Given the description of an element on the screen output the (x, y) to click on. 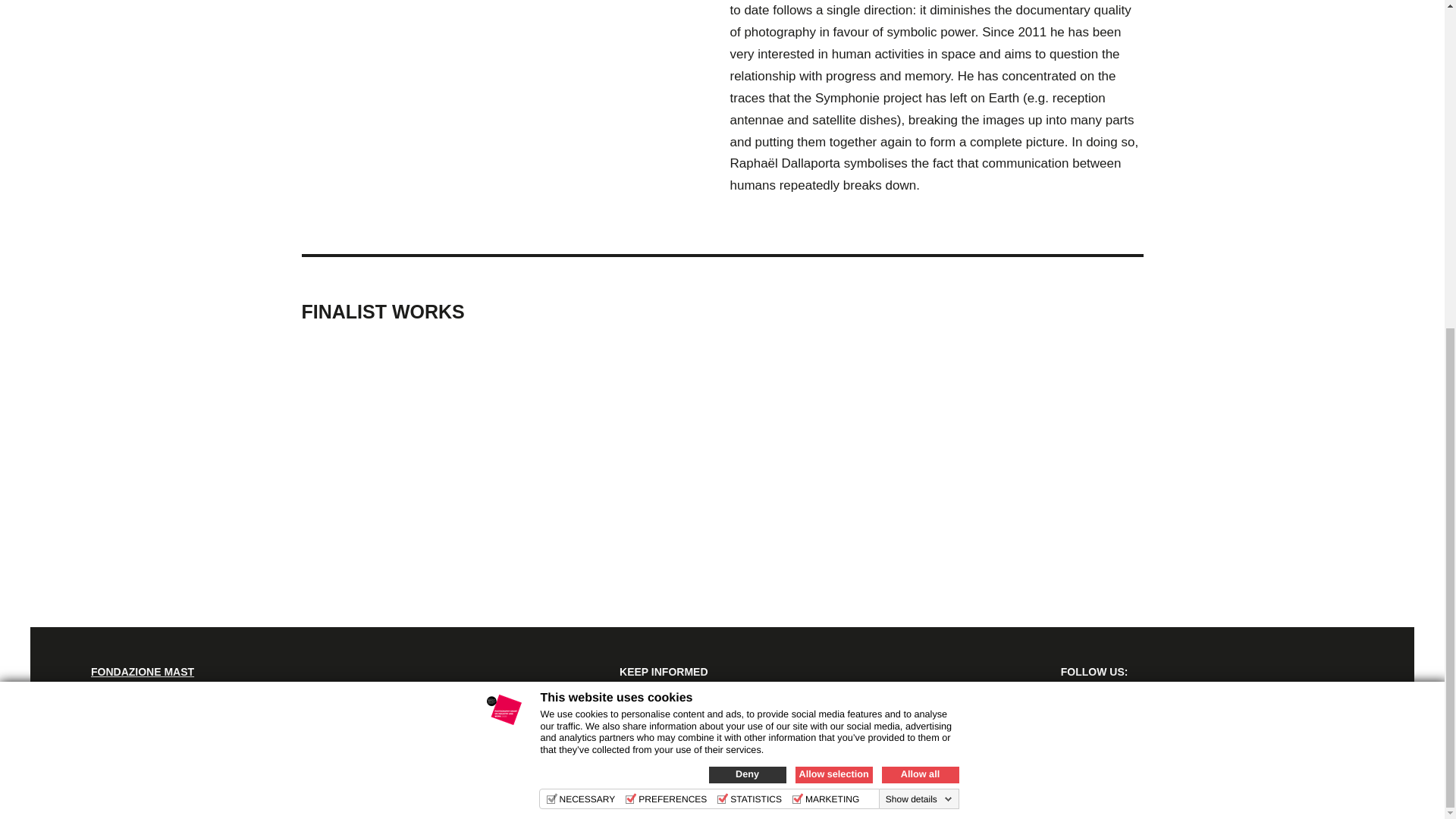
Show details (918, 256)
Deny (746, 232)
Allow all (919, 232)
Allow selection (833, 232)
